Given the description of an element on the screen output the (x, y) to click on. 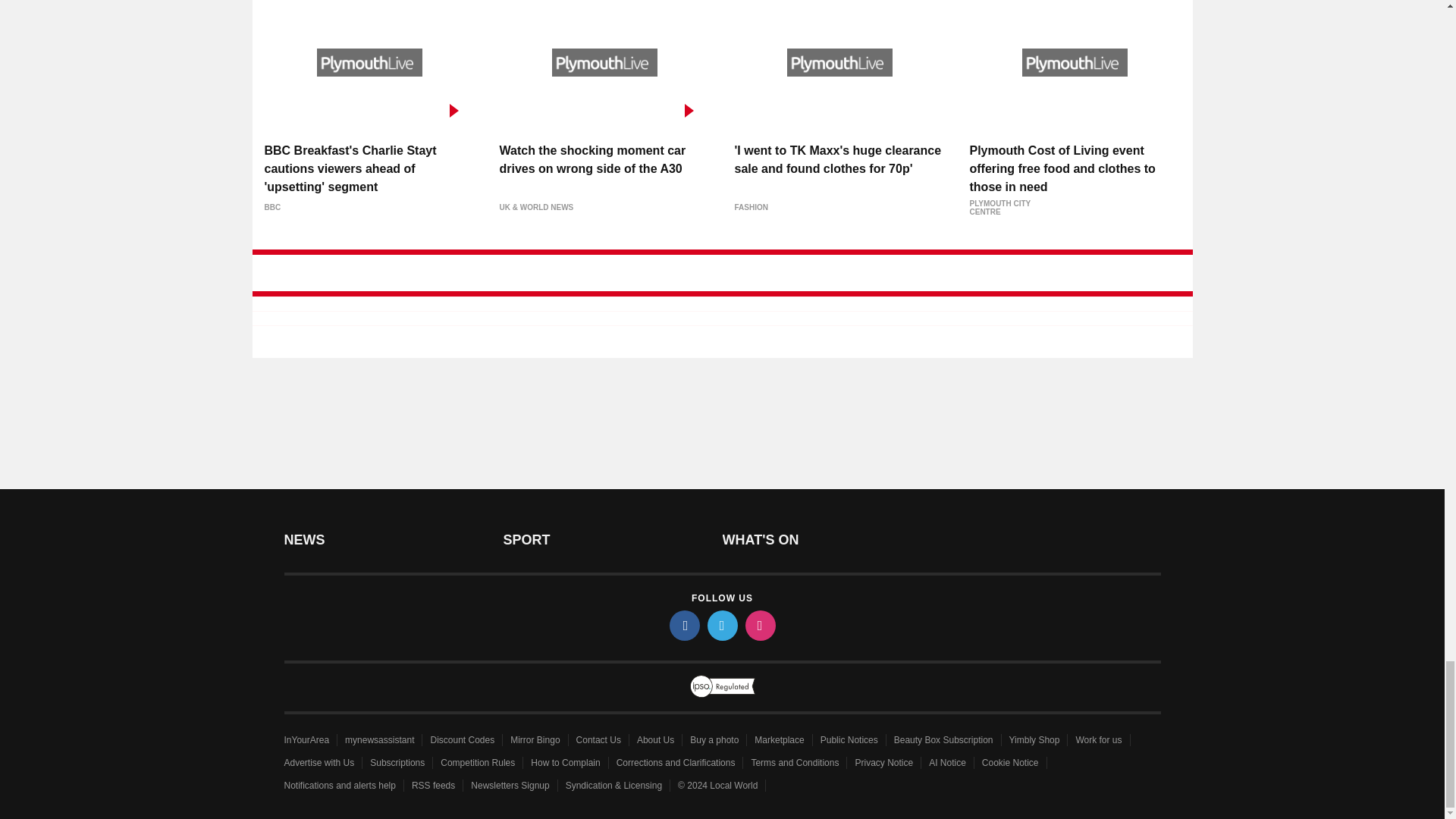
instagram (759, 625)
twitter (721, 625)
facebook (683, 625)
